Given the description of an element on the screen output the (x, y) to click on. 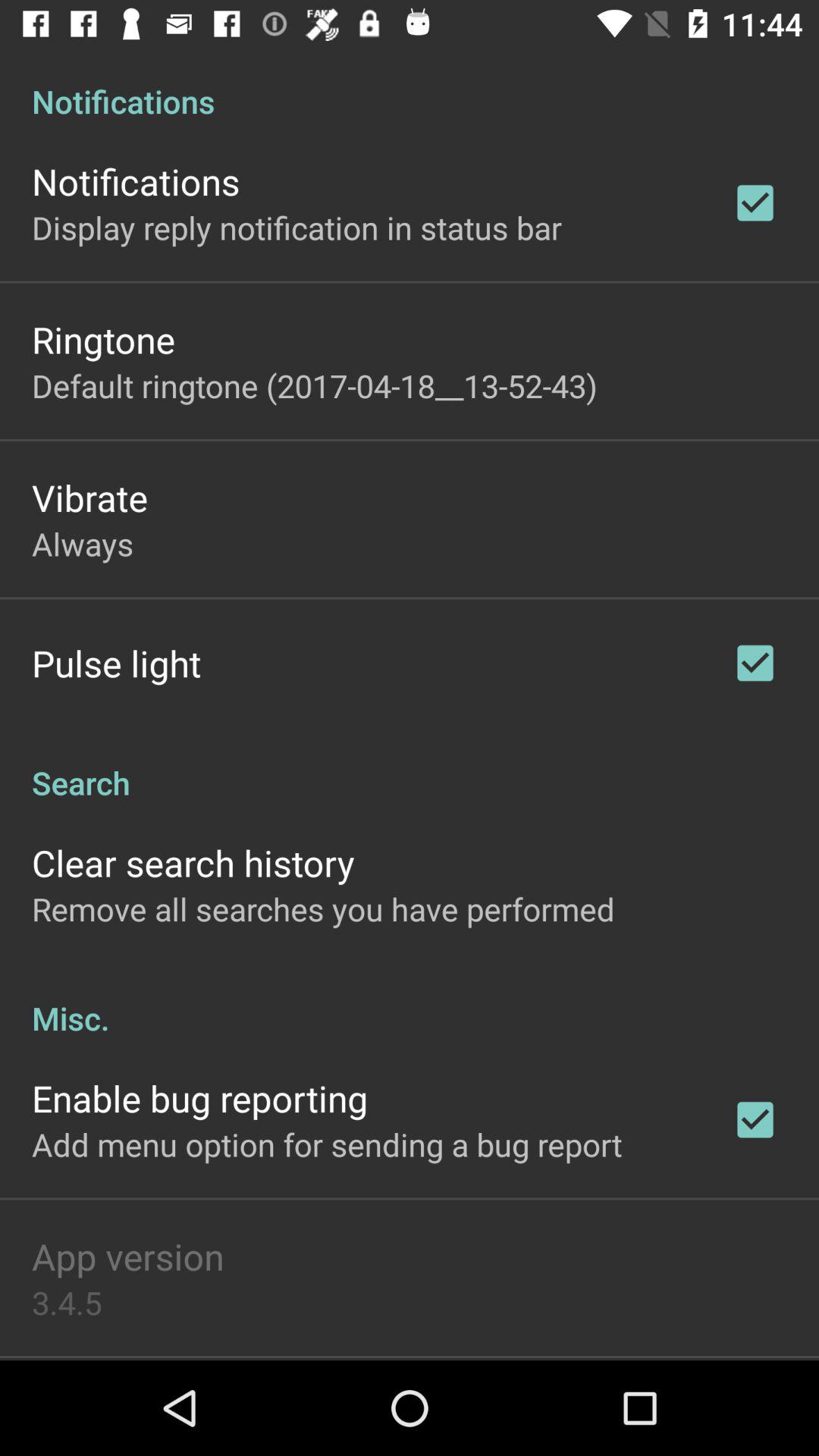
turn on the vibrate app (89, 497)
